Given the description of an element on the screen output the (x, y) to click on. 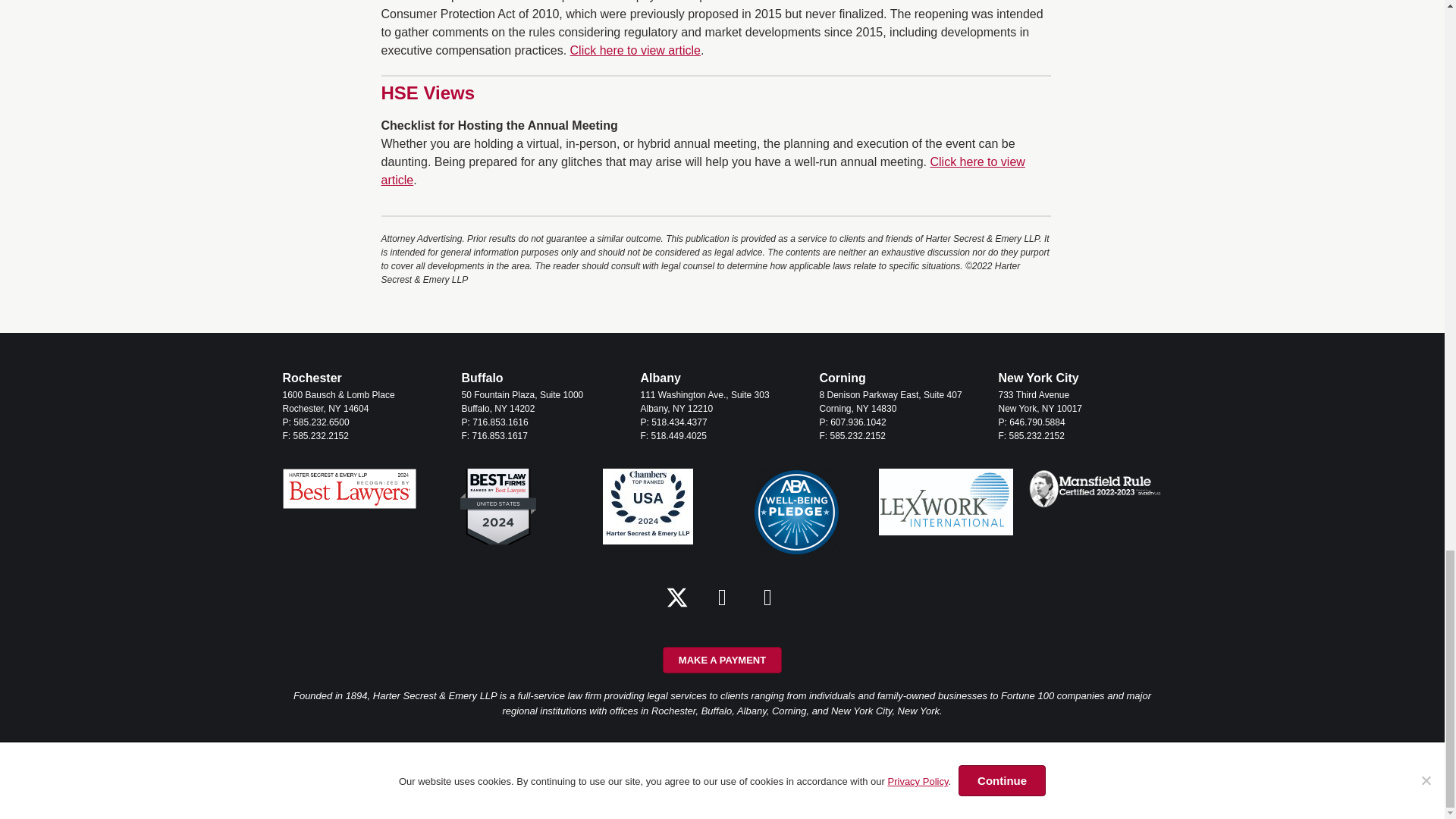
Well Being Logo 2019 Web (796, 512)
Chambers 2024 (647, 506)
Best Law Firms Standard Badge (497, 506)
